Given the description of an element on the screen output the (x, y) to click on. 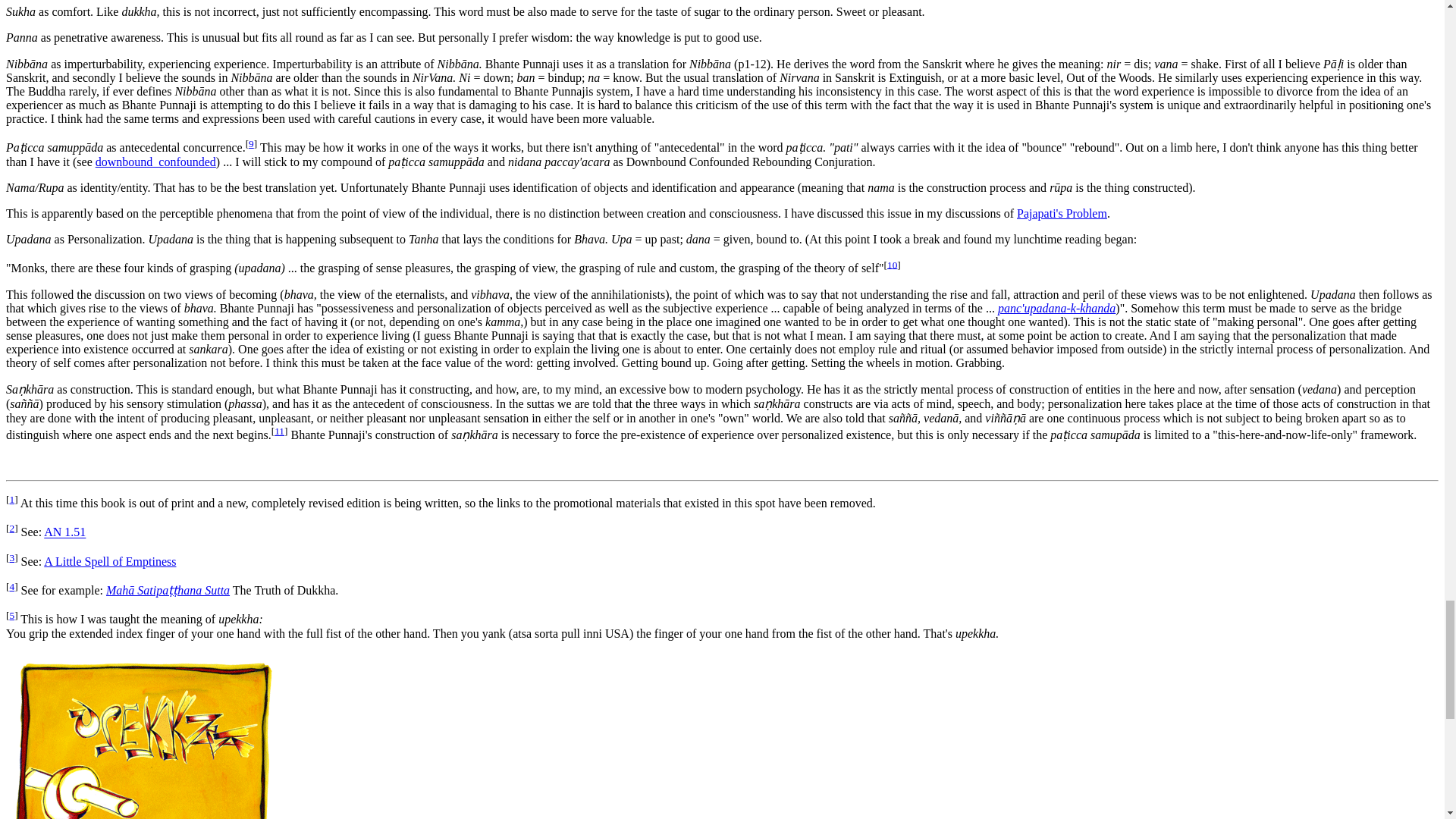
AN 1.51 (64, 532)
A Little Spell of Emptiness (109, 561)
Pajapati's Problem (1061, 213)
panc'upadana-k-khanda (1056, 308)
